Given the description of an element on the screen output the (x, y) to click on. 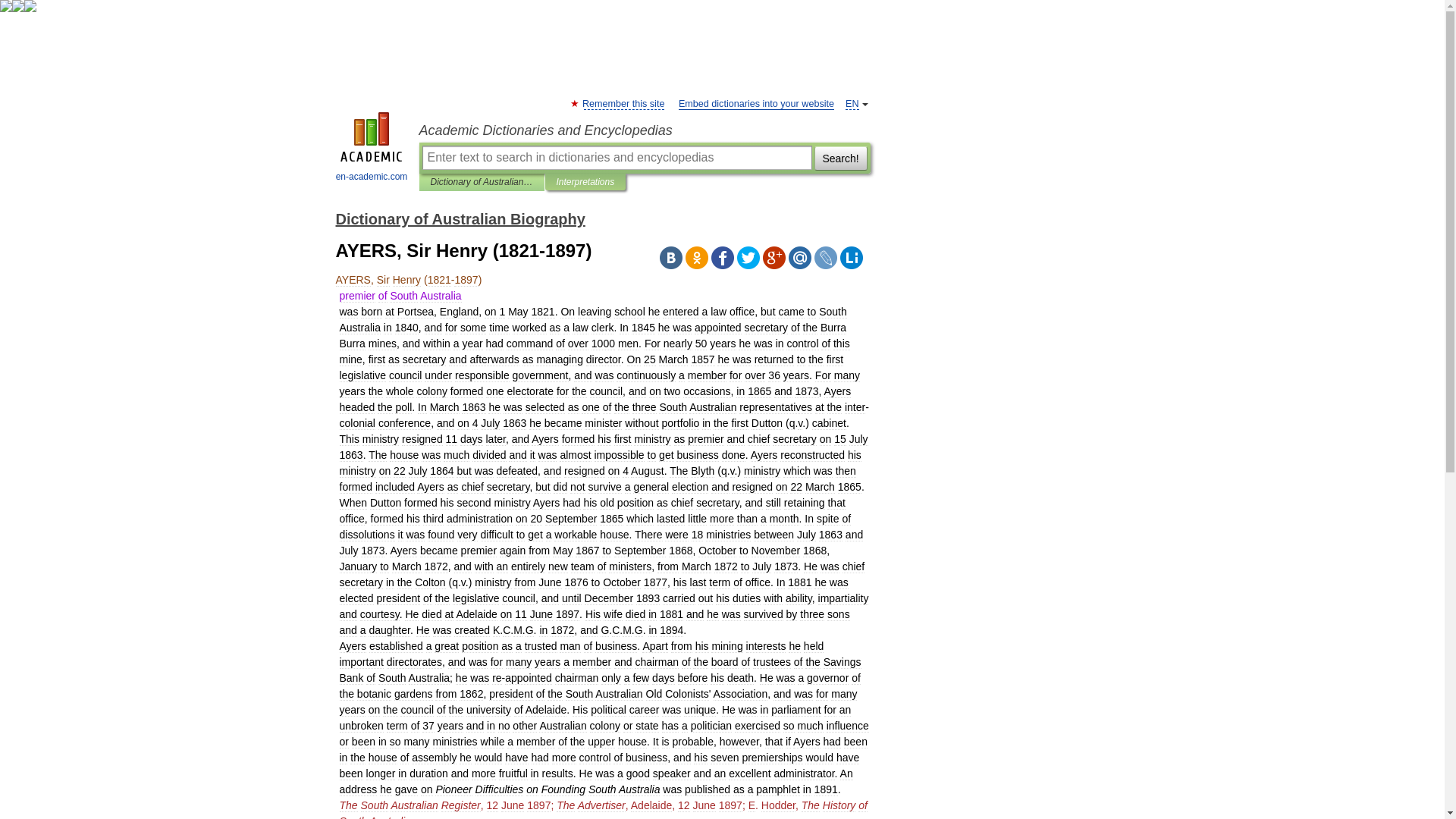
EN (852, 103)
Search! (840, 157)
Interpretations (585, 181)
Enter text to search in dictionaries and encyclopedias (616, 157)
Dictionary of Australian Biography (459, 218)
Embed dictionaries into your website (756, 103)
Remember this site (623, 103)
Dictionary of Australian Biography (481, 181)
Academic Dictionaries and Encyclopedias (644, 130)
en-academic.com (371, 148)
